Given the description of an element on the screen output the (x, y) to click on. 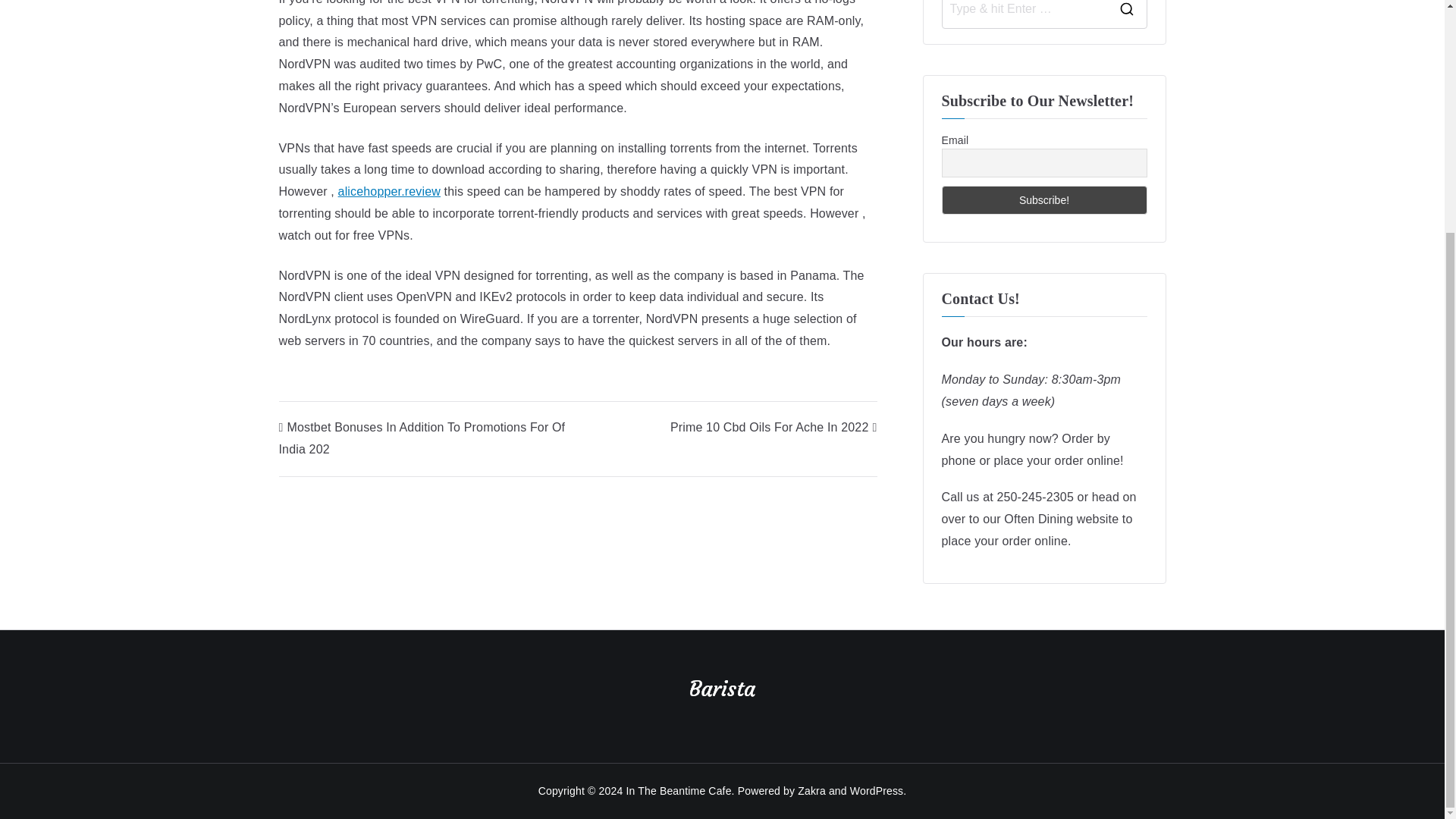
Zakra (811, 790)
Often Dining website (1061, 518)
Subscribe! (1044, 199)
In The Beantime Cafe (678, 790)
In The Beantime Cafe (678, 790)
alicehopper.review (389, 191)
Search for: (1024, 13)
WordPress (876, 790)
WordPress (876, 790)
Subscribe! (1044, 199)
Zakra (811, 790)
Mostbet Bonuses In Addition To Promotions For Of India 202 (422, 438)
Prime 10 Cbd Oils For Ache In 2022 (773, 427)
